Given the description of an element on the screen output the (x, y) to click on. 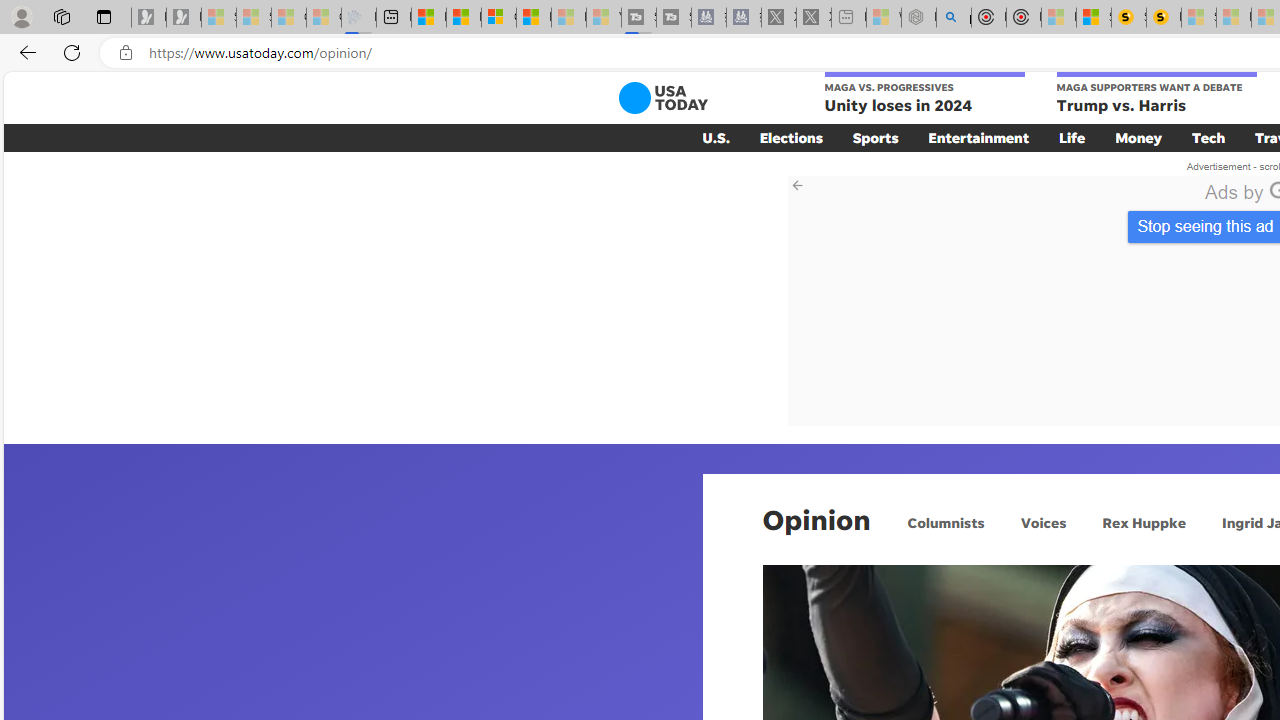
Life (1072, 137)
Rex Huppke (1143, 521)
Class: gnt_n_lg_svg (662, 97)
Wildlife - MSN - Sleeping (883, 17)
Elections (790, 137)
Michelle Starr, Senior Journalist at ScienceAlert (1163, 17)
Class: ns-dqusr-e-4 (1026, 300)
USA TODAY (662, 97)
